Given the description of an element on the screen output the (x, y) to click on. 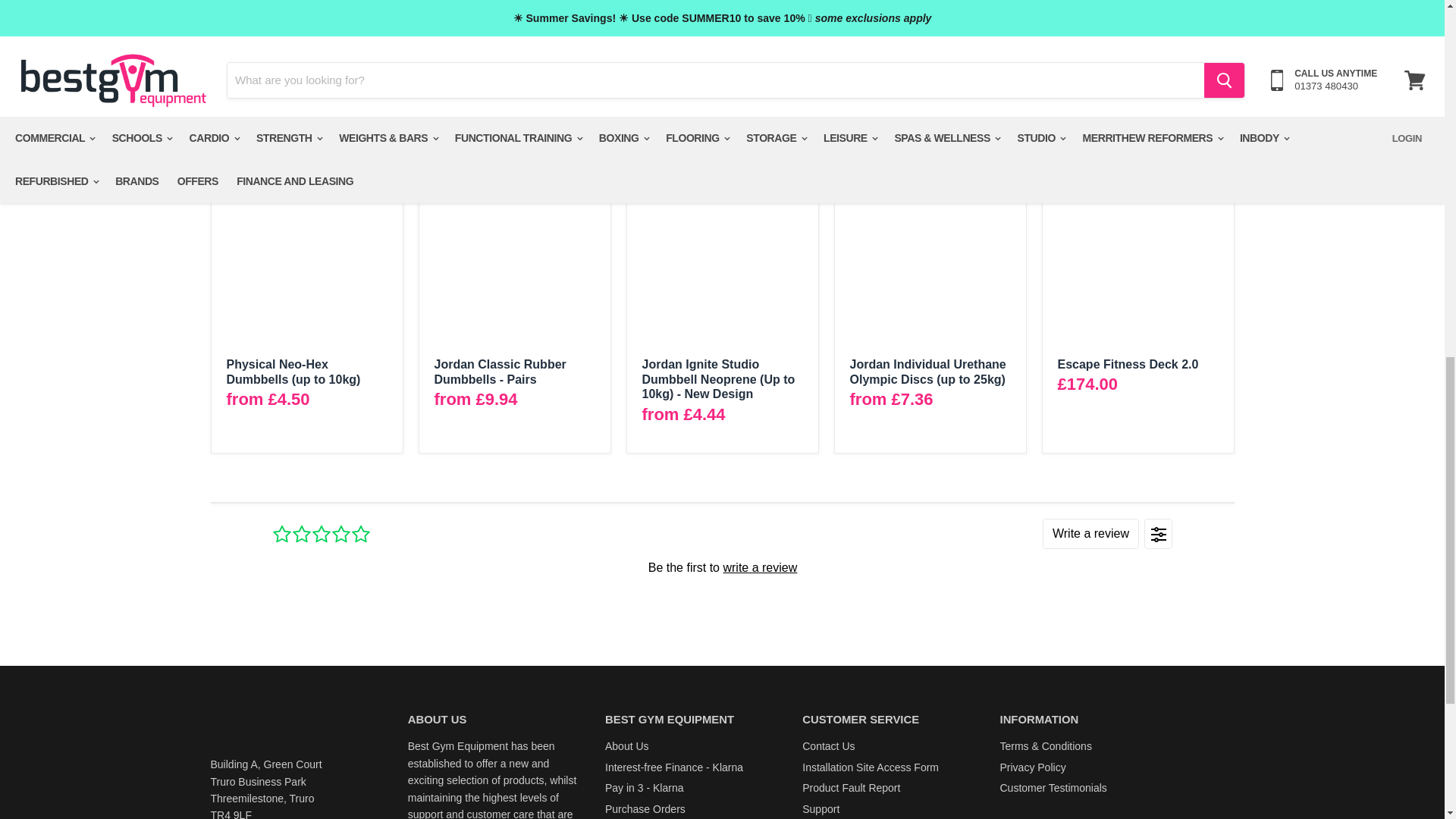
Product reviews widget (721, 566)
